Given the description of an element on the screen output the (x, y) to click on. 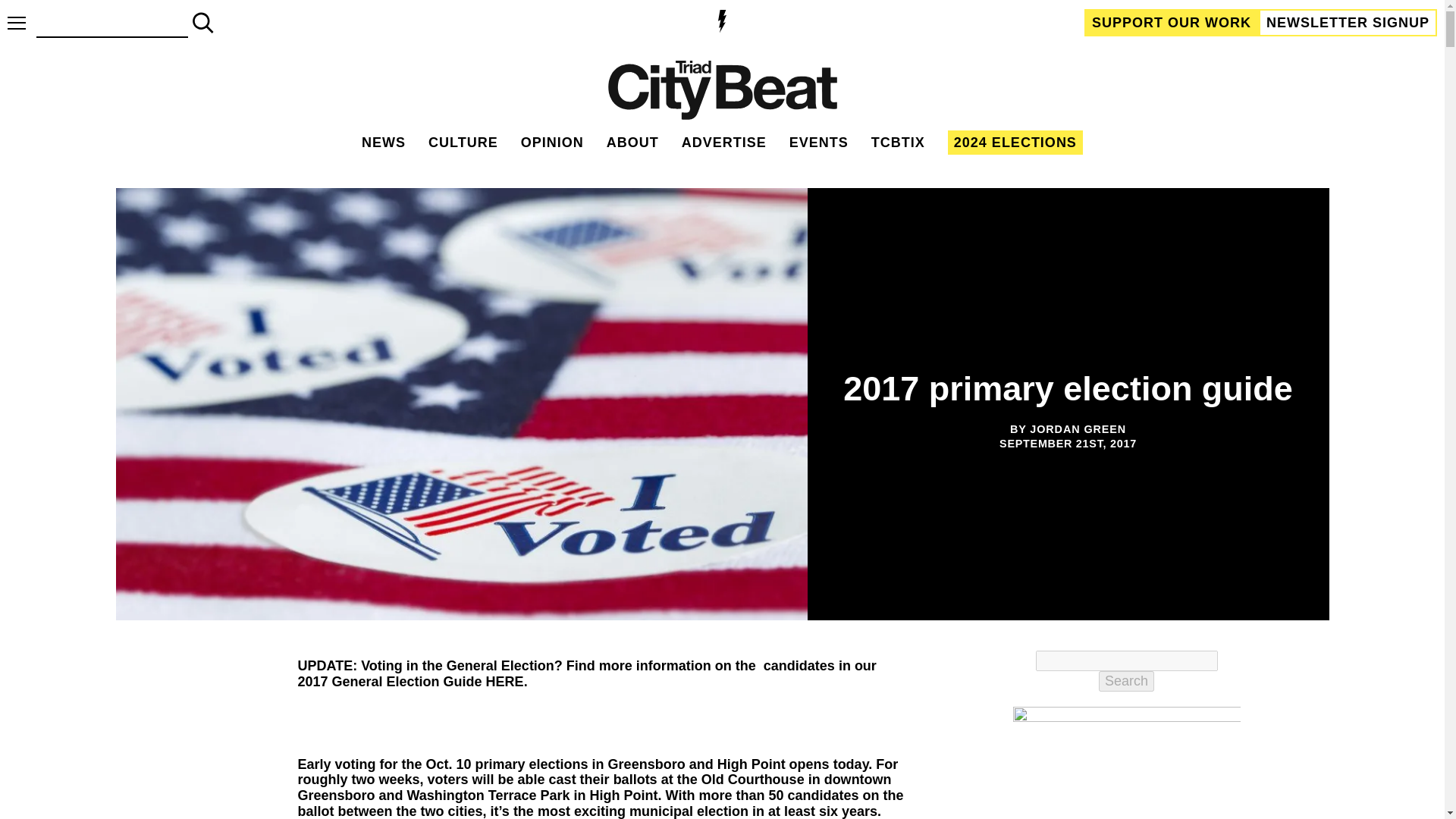
TCBTIX (897, 142)
2024 ELECTIONS (1015, 142)
September 21st, 2017 (1067, 443)
OPINION (552, 142)
CULTURE (462, 142)
NEWS (383, 142)
NEWSLETTER SIGNUP (1348, 22)
ADVERTISE (724, 142)
Search (1126, 680)
EVENTS (818, 142)
